Given the description of an element on the screen output the (x, y) to click on. 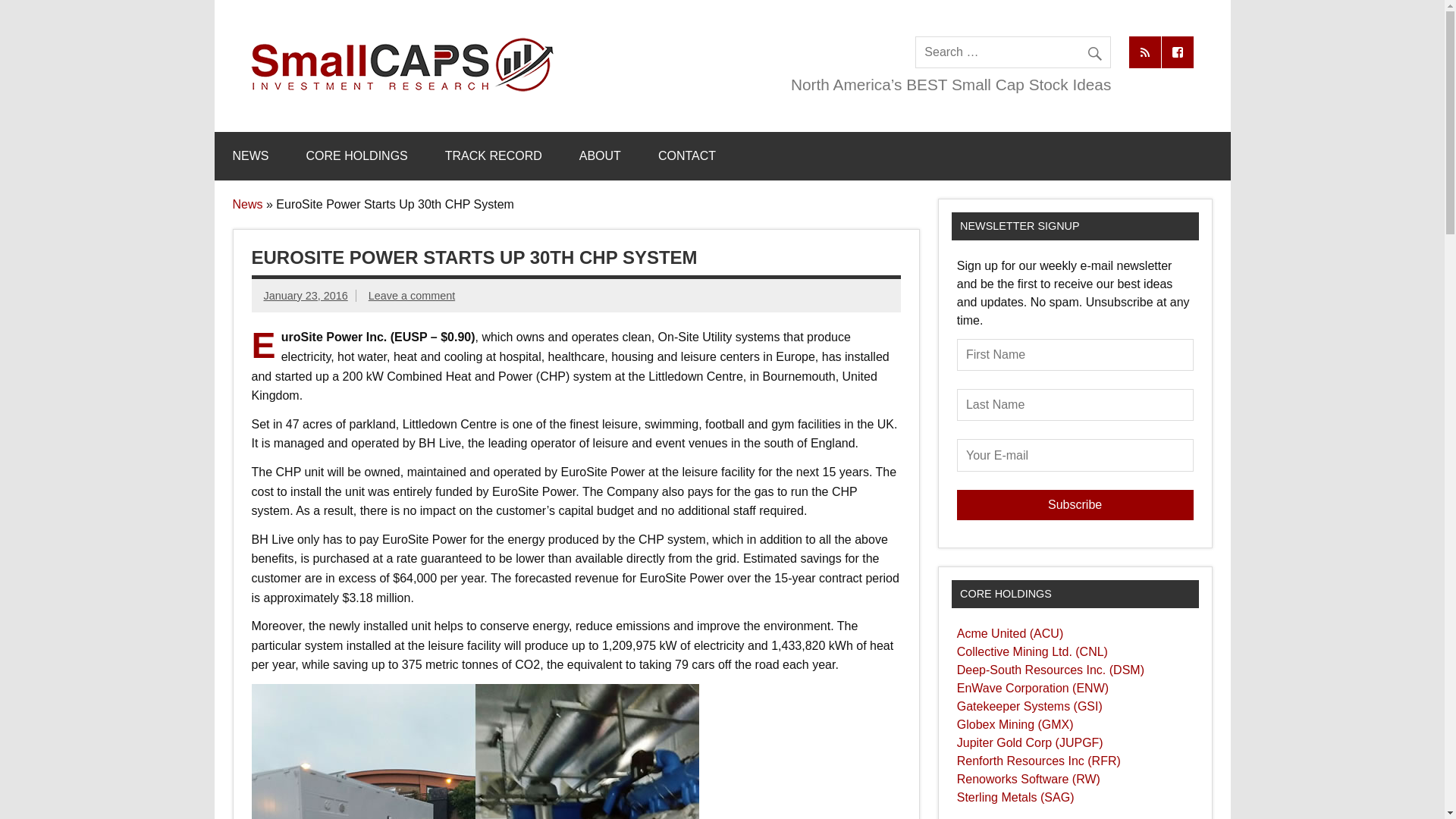
January 23, 2016 (305, 295)
ABOUT (599, 155)
Subscribe (1074, 504)
10:06 am (305, 295)
Smallcaps Investment Research (803, 51)
NEWS (250, 155)
TRACK RECORD (493, 155)
CONTACT (686, 155)
Subscribe (1074, 504)
News (246, 204)
CORE HOLDINGS (357, 155)
Leave a comment (411, 295)
